Given the description of an element on the screen output the (x, y) to click on. 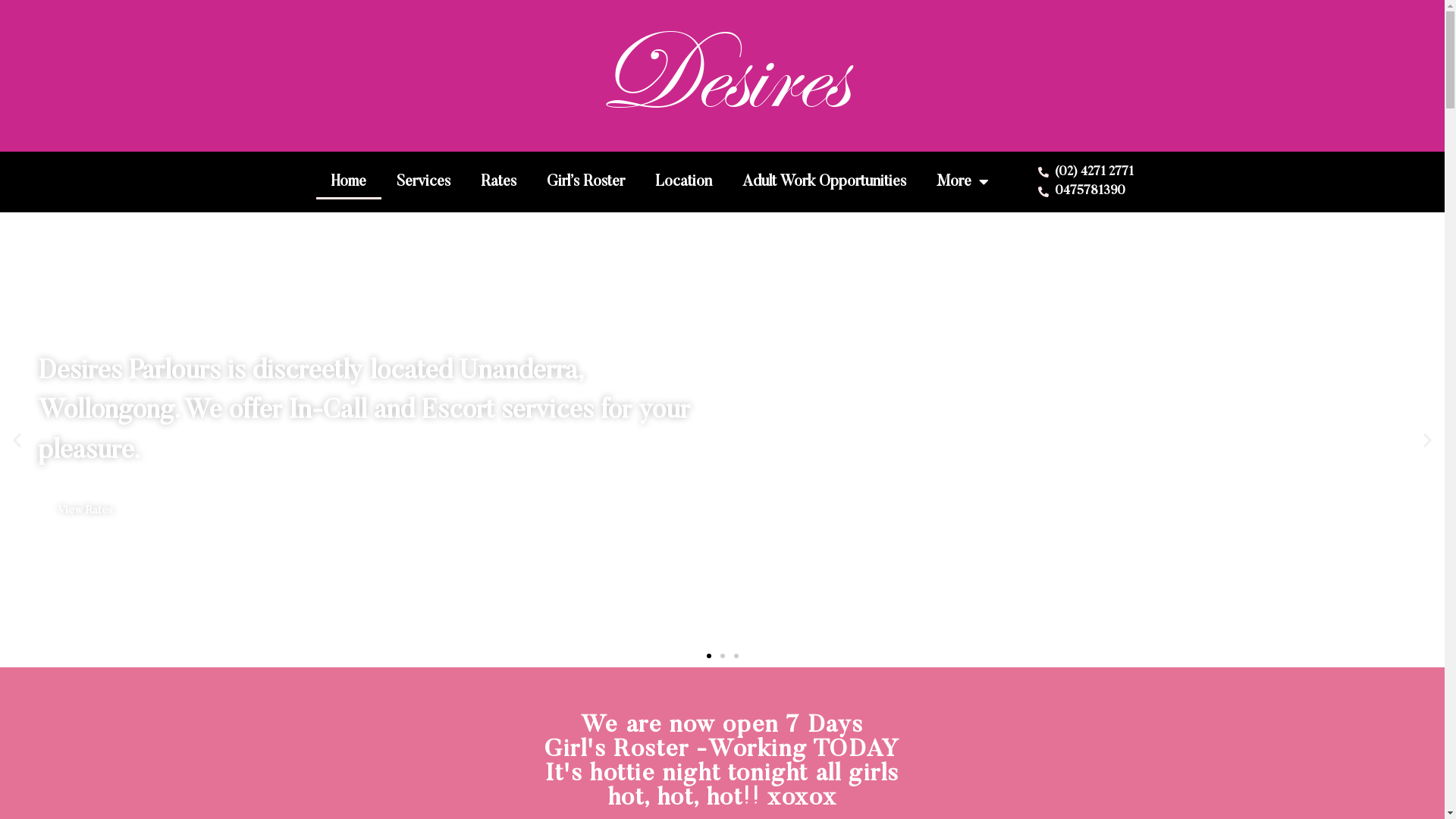
0475781390 Element type: text (1092, 191)
Location Element type: text (683, 181)
Home Element type: text (348, 181)
(02) 4271 2771 Element type: text (1092, 172)
Adult Work Opportunities Element type: text (824, 181)
Services Element type: text (423, 181)
More Element type: text (962, 181)
Rates Element type: text (498, 181)
